Given the description of an element on the screen output the (x, y) to click on. 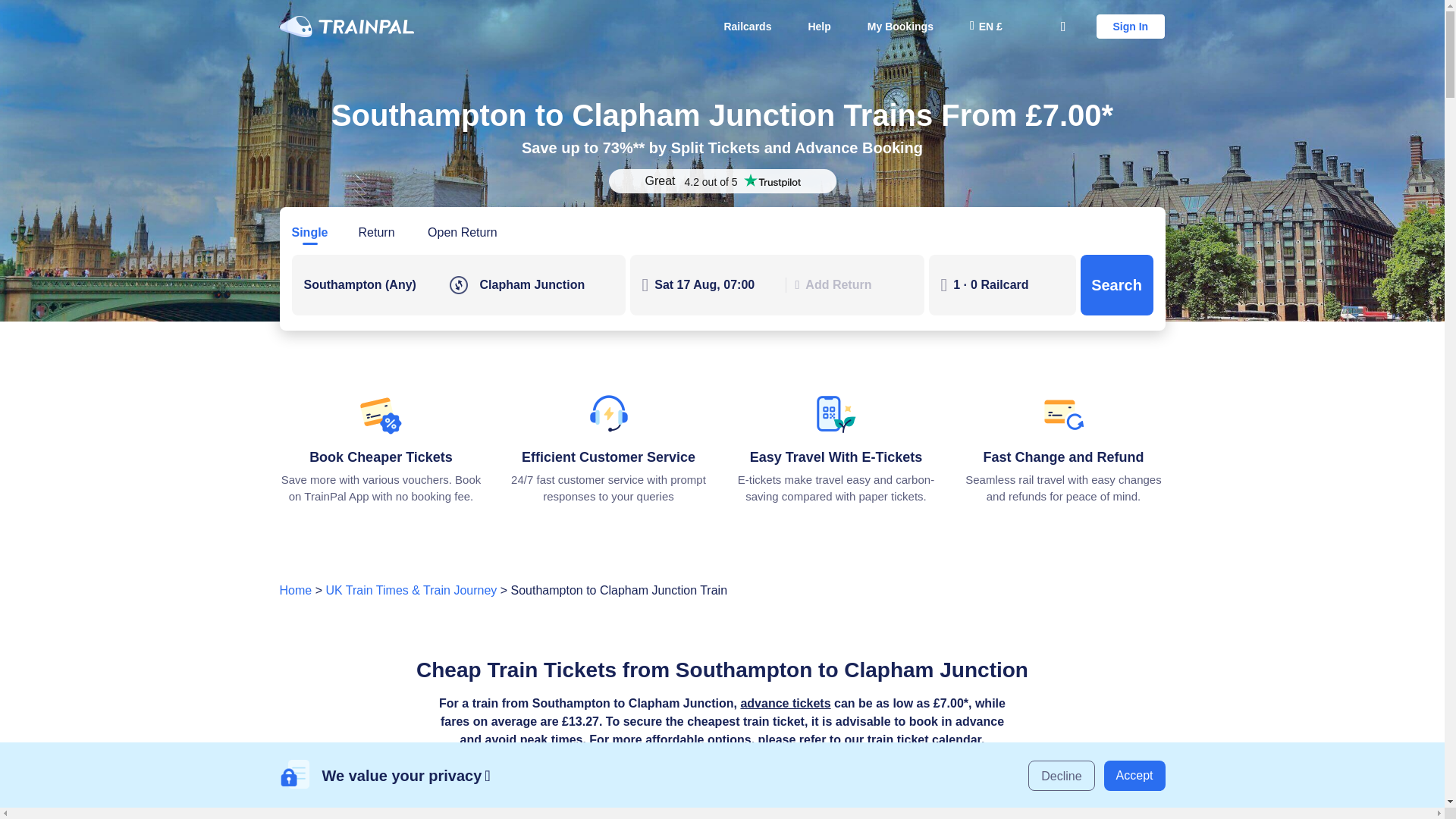
My Bookings (900, 26)
Railcards (747, 26)
Help (818, 26)
Customer reviews powered by Trustpilot (721, 181)
Clapham Junction (545, 284)
Sign In (1131, 26)
Sat 17 Aug, 07:00 (714, 284)
